Given the description of an element on the screen output the (x, y) to click on. 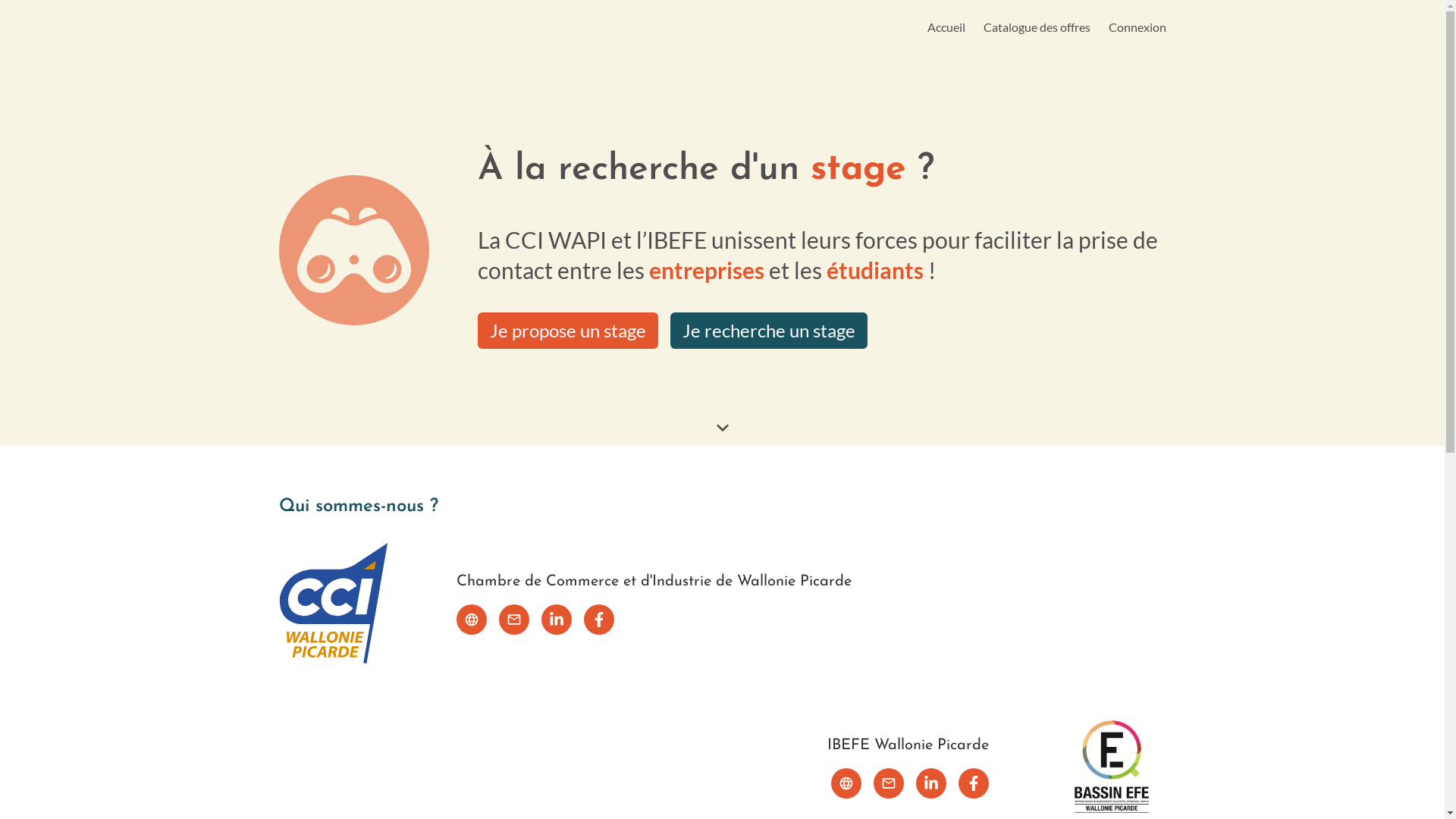
Accueil Element type: text (945, 26)
Je propose un stage Element type: text (567, 330)
Connexion Element type: text (1137, 26)
Consulter le profil Facebook Element type: hover (598, 619)
Consulter le profil LinkedIn Element type: hover (556, 619)
Consulter le profil Facebook Element type: hover (973, 783)
En savoir plus Element type: hover (721, 427)
Je recherche un stage Element type: text (768, 330)
Consulter le site Element type: hover (471, 619)
Consulter le profil LinkedIn Element type: hover (931, 783)
Consulter le site Element type: hover (846, 783)
Catalogue des offres Element type: text (1035, 26)
